Given the description of an element on the screen output the (x, y) to click on. 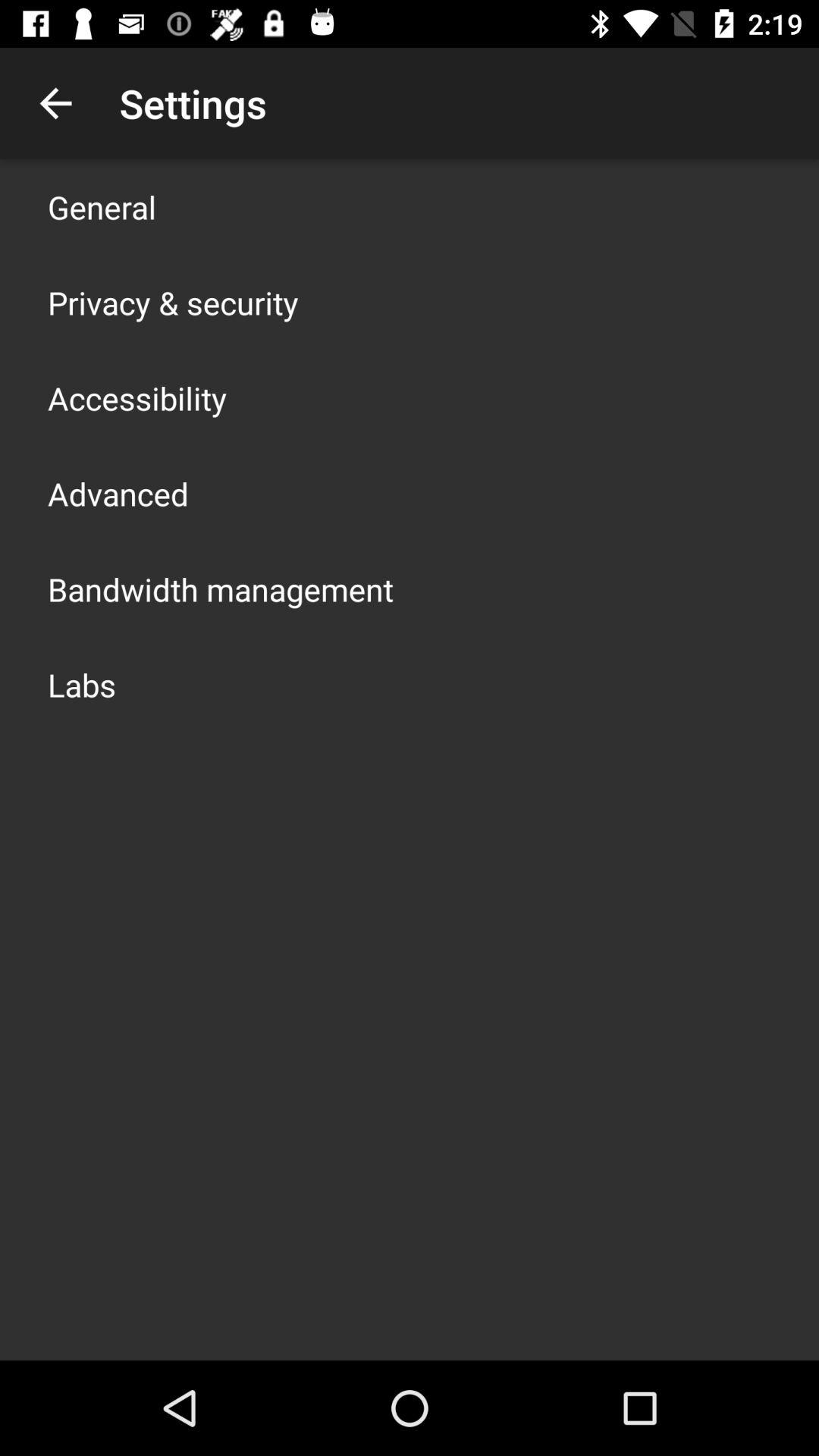
turn off the advanced (117, 493)
